Given the description of an element on the screen output the (x, y) to click on. 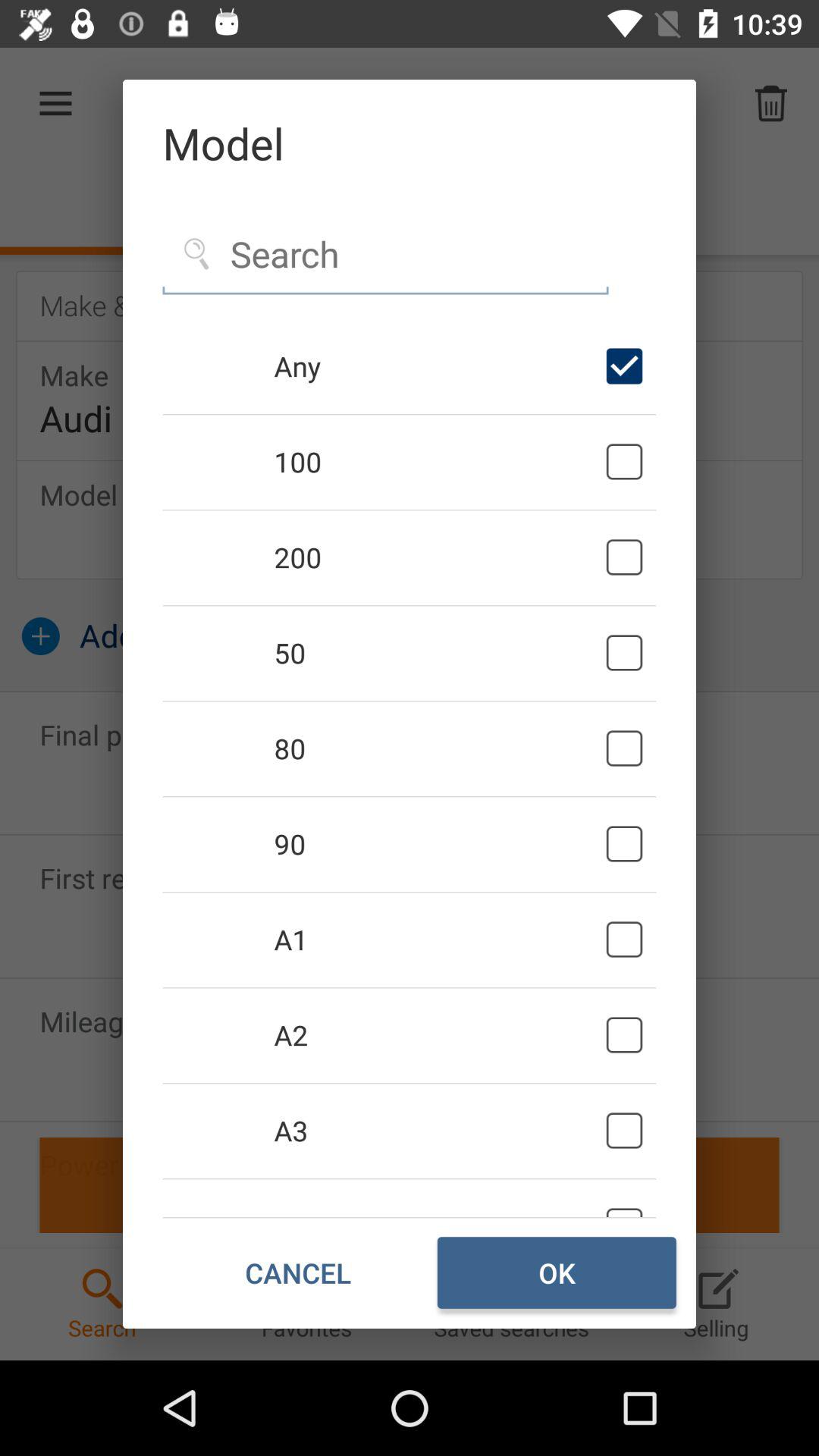
turn off icon below the 80 icon (437, 843)
